Given the description of an element on the screen output the (x, y) to click on. 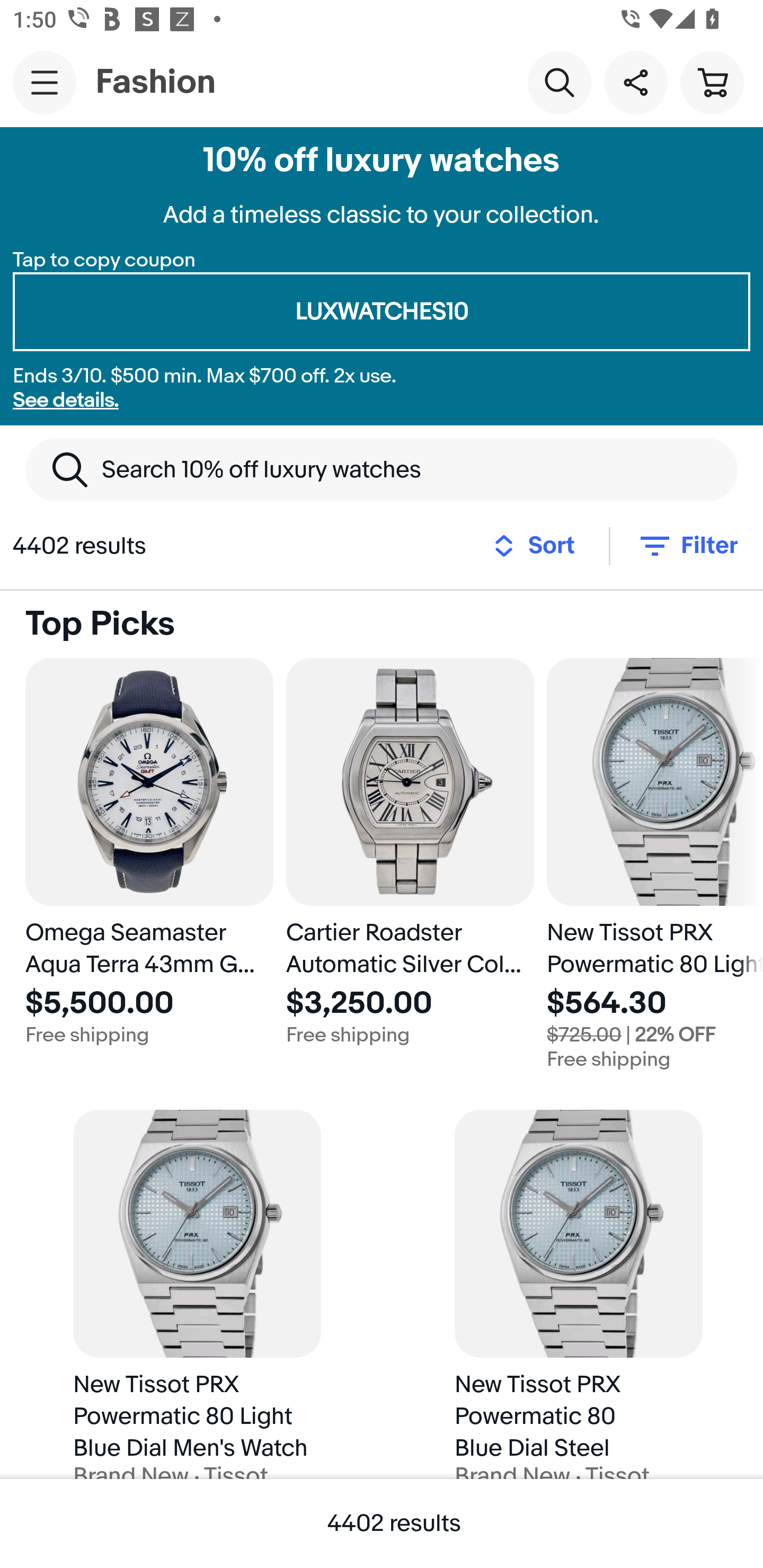
Main navigation, open (44, 82)
Search (559, 81)
Share this page (635, 81)
Cart button shopping cart (711, 81)
LUXWATCHES10 (381, 311)
See details. (65, 400)
Search 10% off luxury watches (381, 469)
Sort (538, 546)
Filter (686, 546)
